Given the description of an element on the screen output the (x, y) to click on. 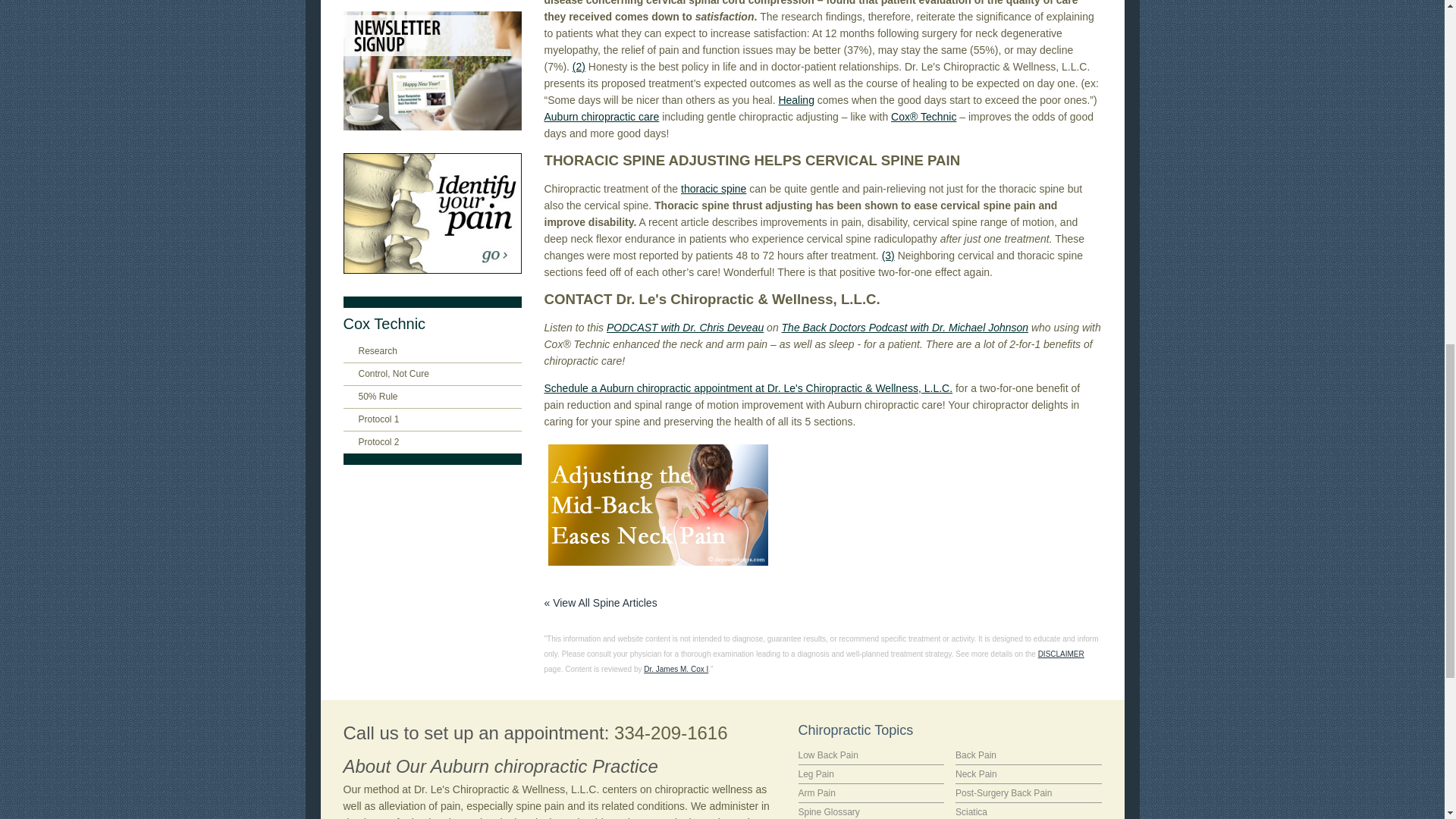
id-your-pain.jpg (431, 213)
Newsletter signup graphic.jpg (431, 70)
